Given the description of an element on the screen output the (x, y) to click on. 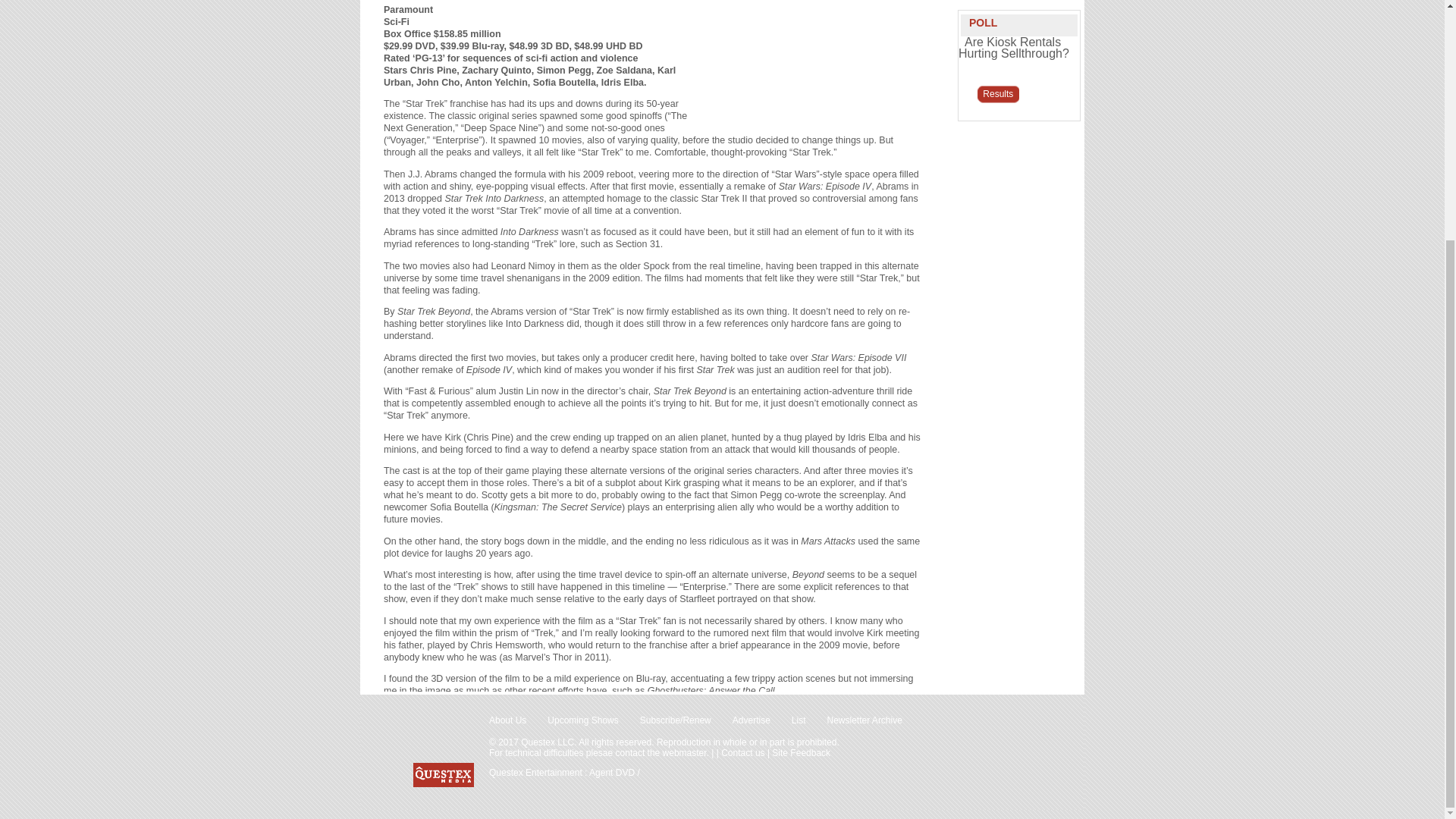
Contact the Webmaster (660, 752)
Results (997, 94)
